Given the description of an element on the screen output the (x, y) to click on. 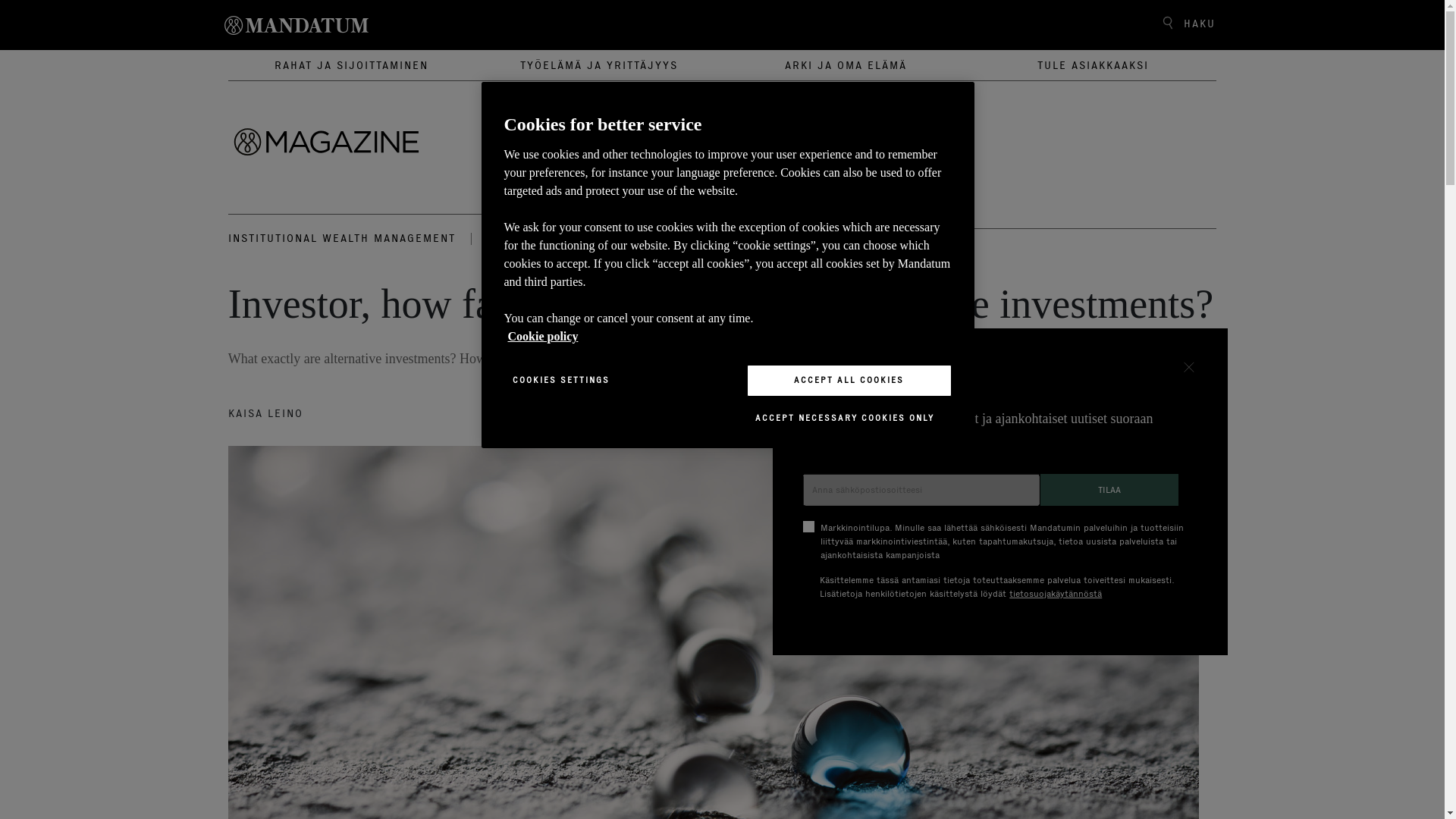
HAKU (1184, 23)
INSTITUTIONAL WEALTH MANAGEMENT (341, 237)
TULE ASIAKKAAKSI (1092, 64)
TILAA (1109, 490)
Cookie policy (543, 336)
RAHAT JA SIJOITTAMINEN (351, 64)
COOKIES SETTINGS (560, 380)
ACCEPT ALL COOKIES (848, 380)
ACCEPT NECESSARY COOKIES ONLY (844, 418)
